Given the description of an element on the screen output the (x, y) to click on. 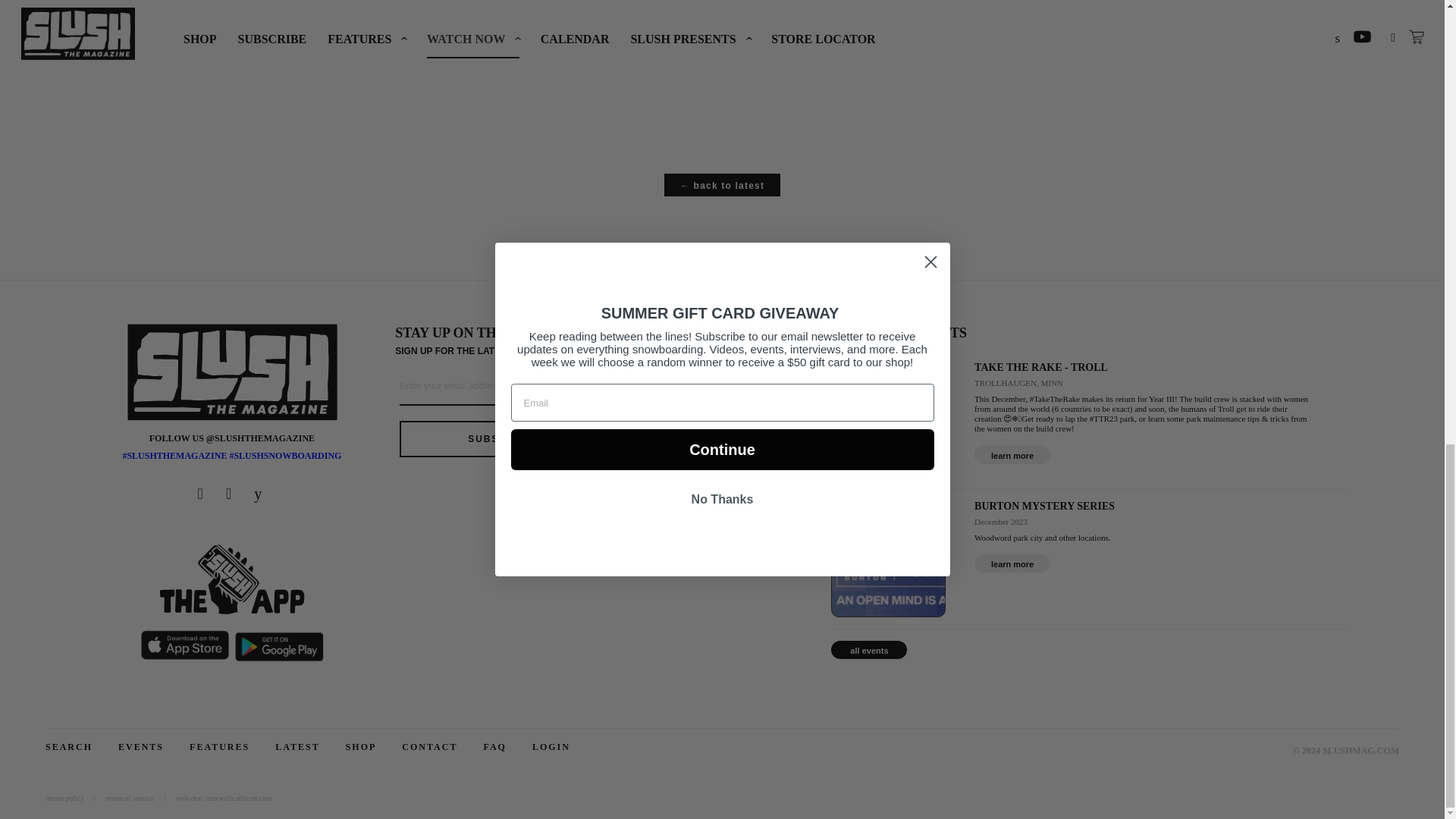
Slush Magazine on Facebook (202, 494)
Events links (1011, 563)
Events links (1011, 454)
Pin on Pinterest (569, 43)
Slush Magazine on YouTube (259, 494)
Share on Facebook (465, 43)
Slush Magazine on Instagram (230, 494)
Tweet on Twitter (518, 43)
